Given the description of an element on the screen output the (x, y) to click on. 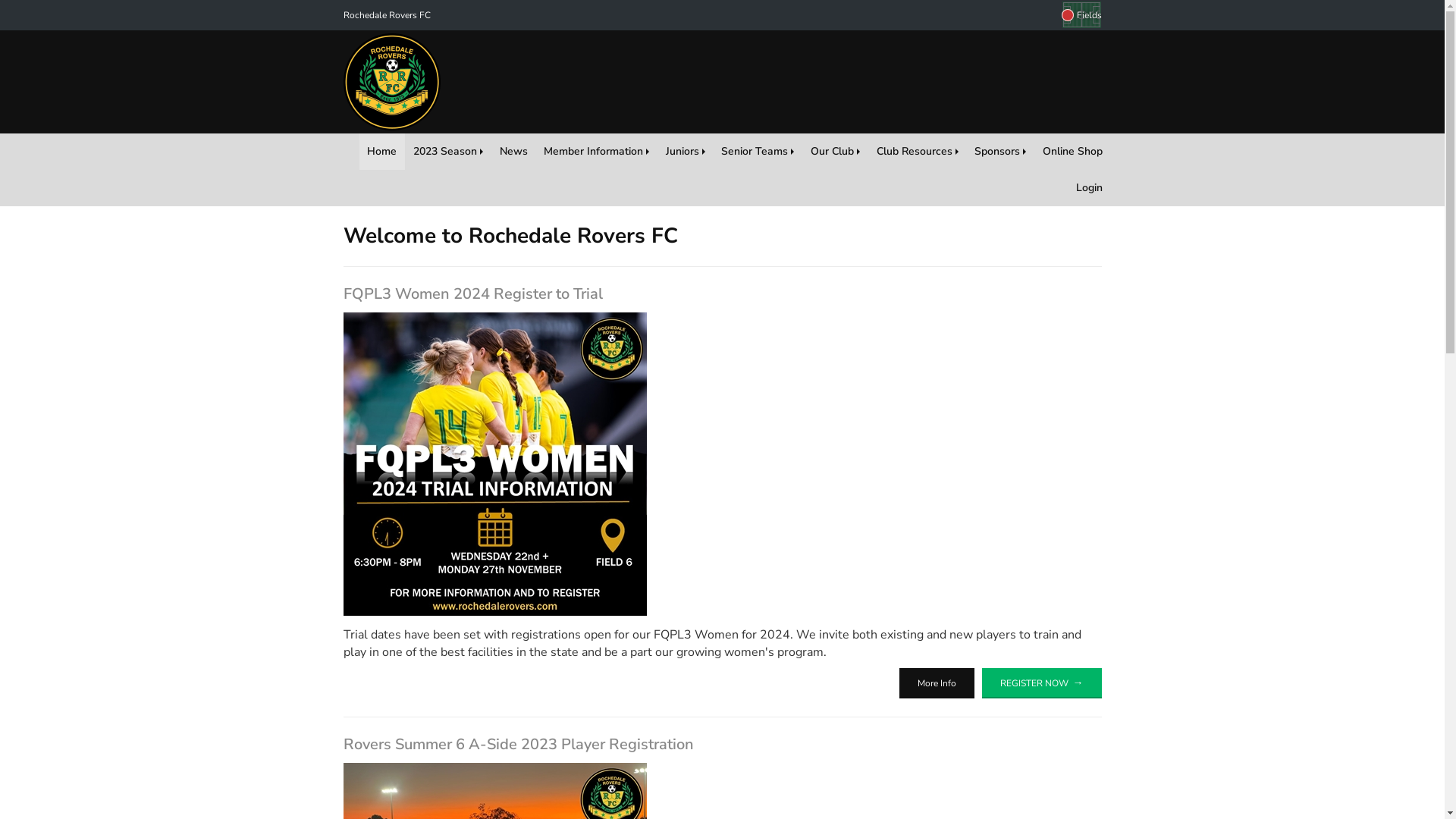
Juniors Element type: text (685, 151)
Senior Teams Element type: text (758, 151)
Fields Element type: text (1081, 15)
Login Element type: text (1088, 187)
2023 Season Element type: text (447, 151)
More Info Element type: text (936, 683)
Online Shop Element type: text (1072, 151)
Sponsors Element type: text (1000, 151)
Our Club Element type: text (835, 151)
Member Information Element type: text (596, 151)
News Element type: text (513, 151)
Club Resources Element type: text (917, 151)
Rochedale Rovers FC Element type: text (386, 15)
Home Element type: text (382, 151)
REGISTER NOW Element type: text (1041, 683)
